Given the description of an element on the screen output the (x, y) to click on. 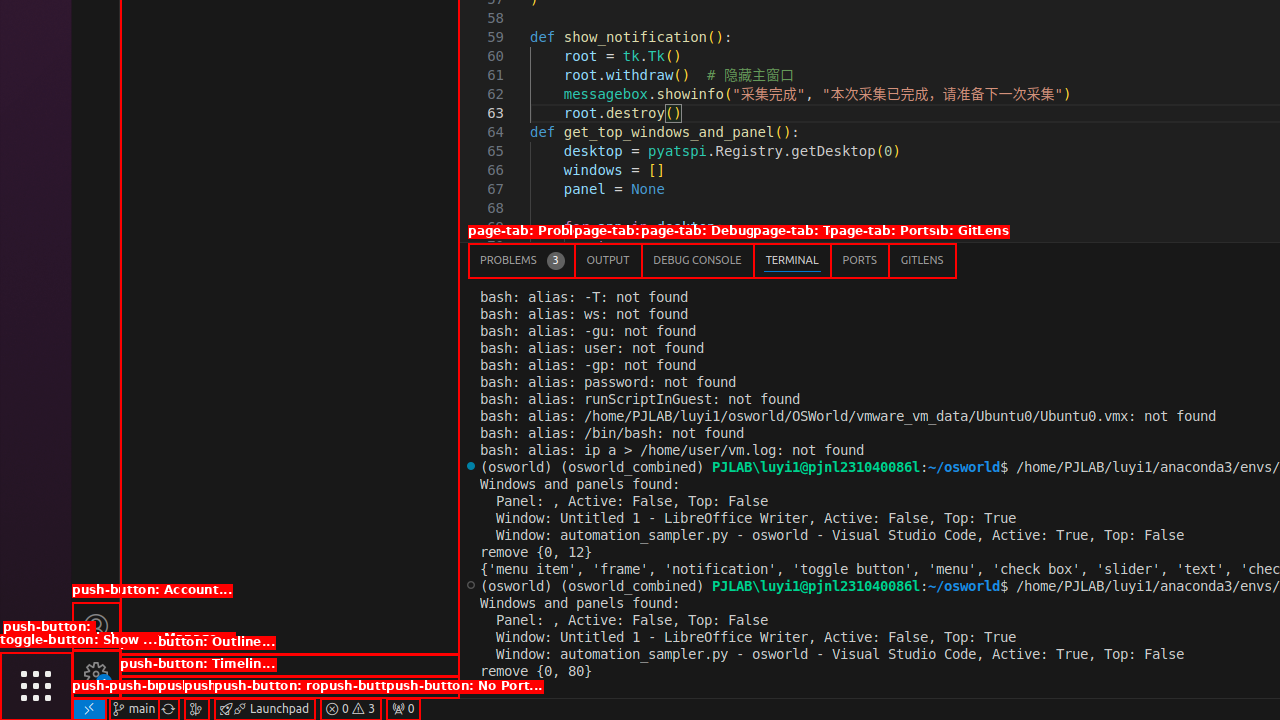
Terminal (Ctrl+`) Element type: page-tab (792, 260)
Output (Ctrl+K Ctrl+H) Element type: page-tab (608, 260)
Warnings: 3 Element type: push-button (350, 709)
OSWorld (Git) - Synchronize Changes Element type: push-button (168, 709)
